Given the description of an element on the screen output the (x, y) to click on. 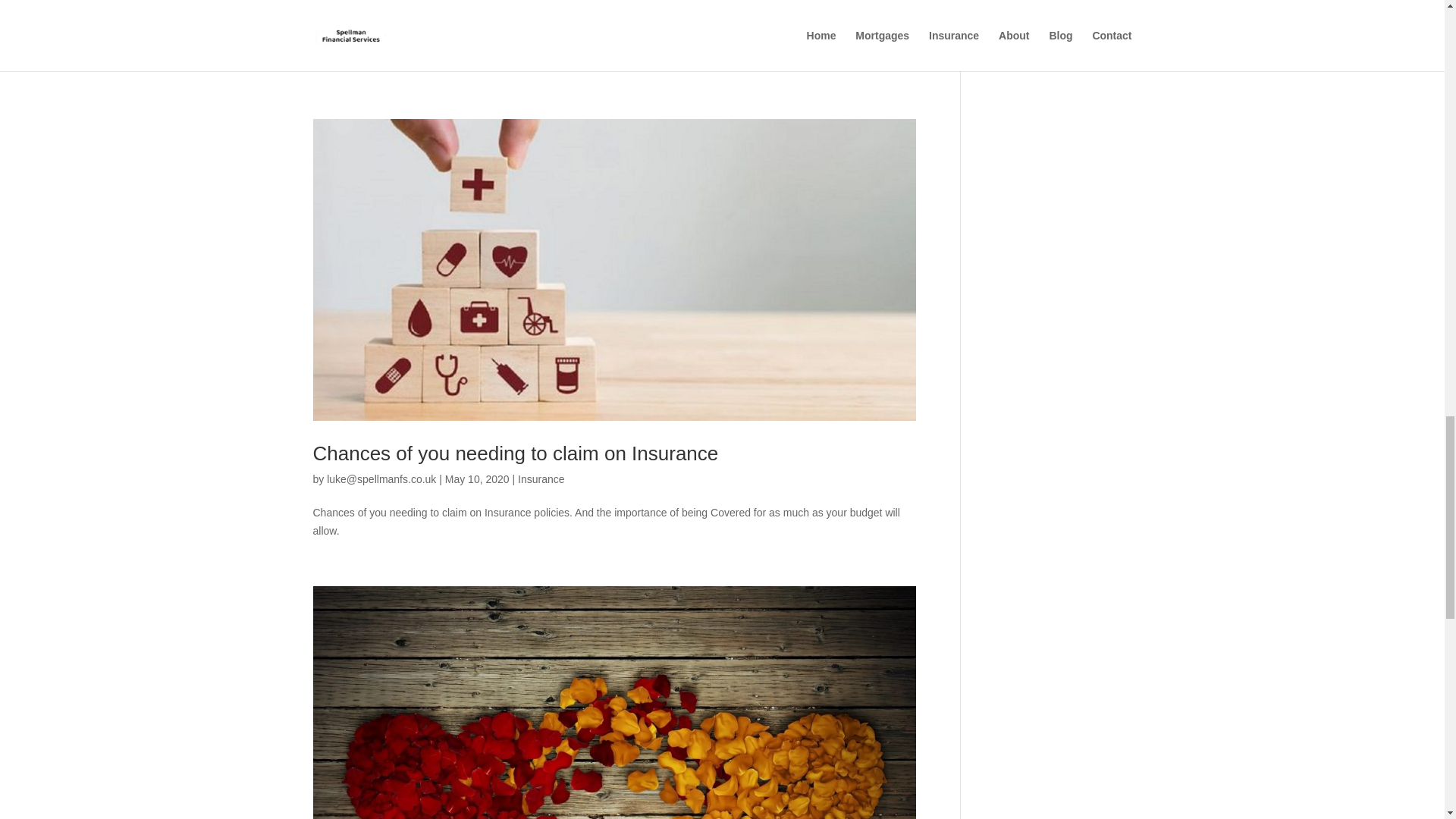
Insurance (541, 11)
Insurance (541, 479)
Chances of you needing to claim on Insurance (515, 453)
